Given the description of an element on the screen output the (x, y) to click on. 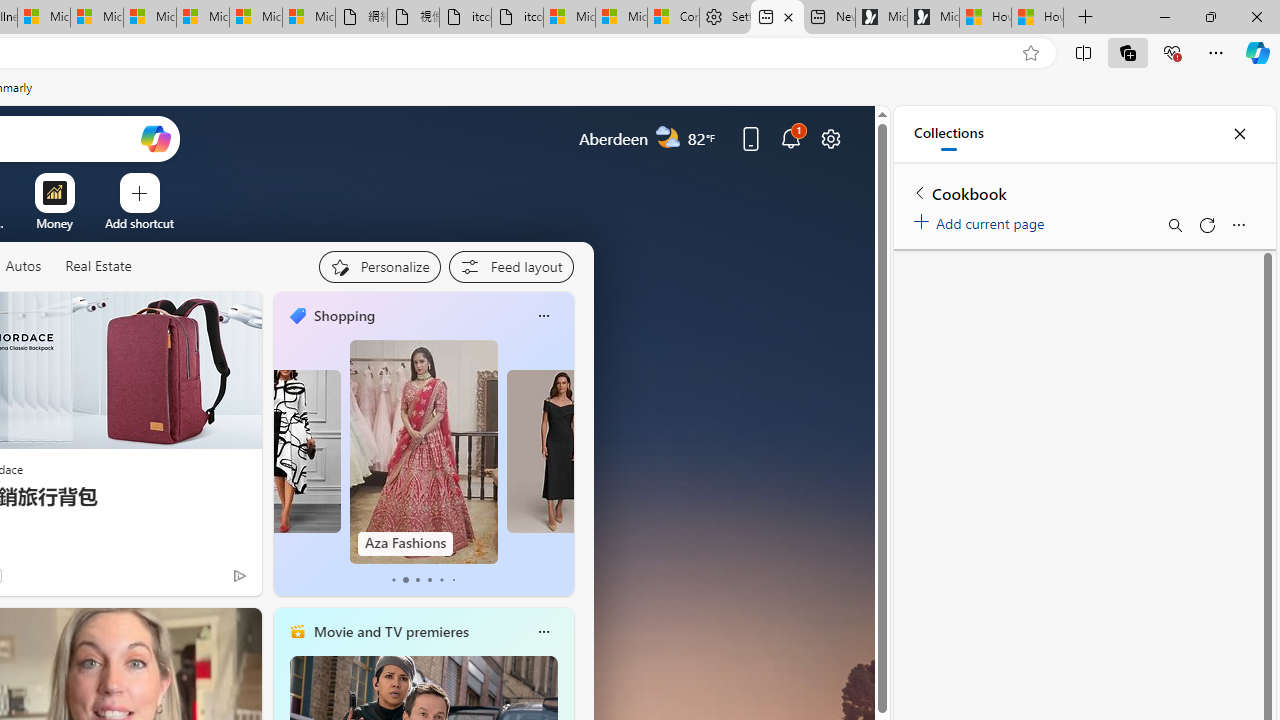
Shopping (344, 315)
Microsoft Services Agreement (96, 17)
Microsoft Start Gaming (932, 17)
Real Estate (98, 265)
